Given the description of an element on the screen output the (x, y) to click on. 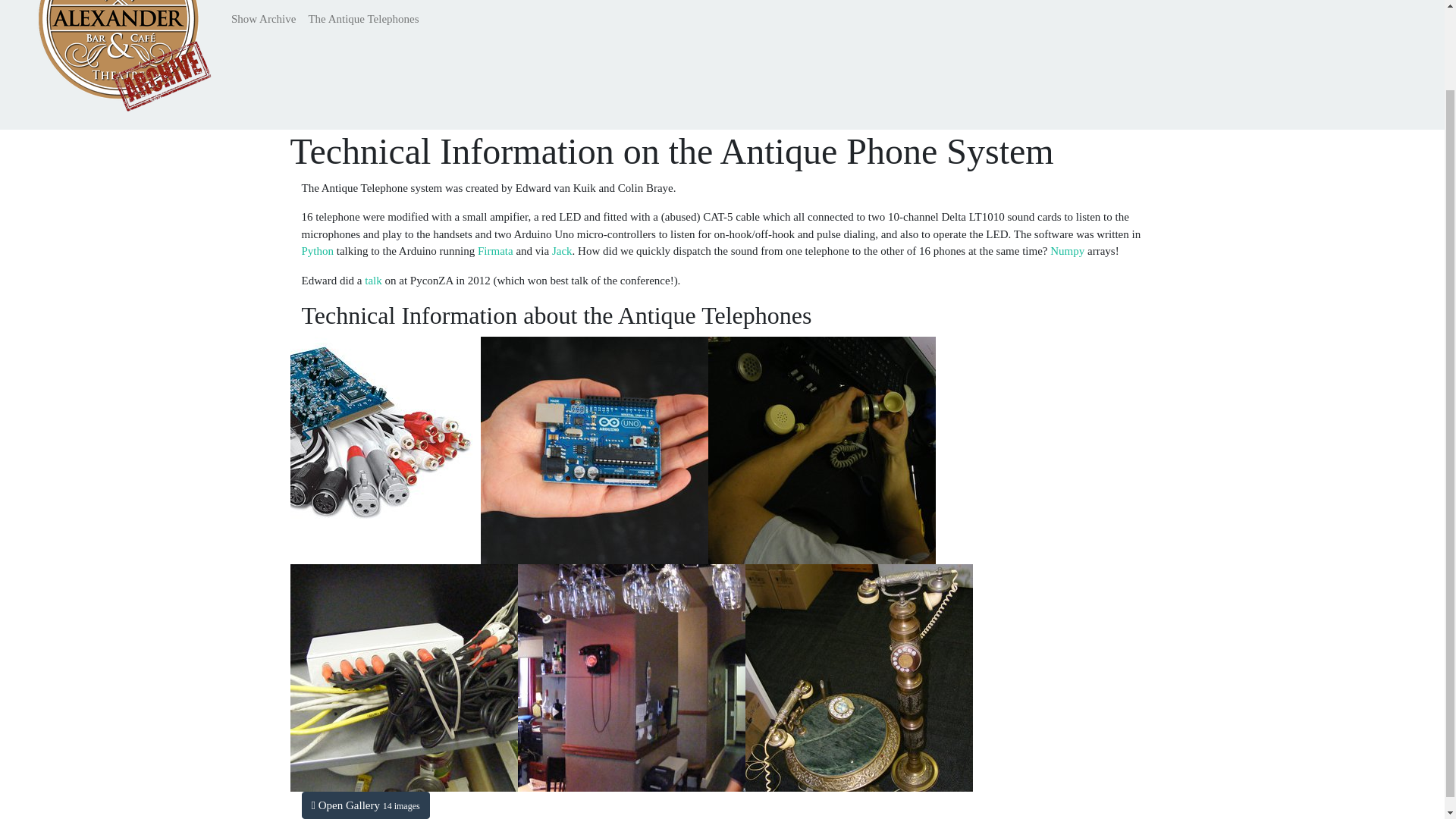
Numpy (1066, 250)
The Antique Telephones (363, 19)
Firmata (495, 250)
talk (373, 280)
Jack (561, 250)
Show Archive (263, 19)
Python (317, 250)
